Given the description of an element on the screen output the (x, y) to click on. 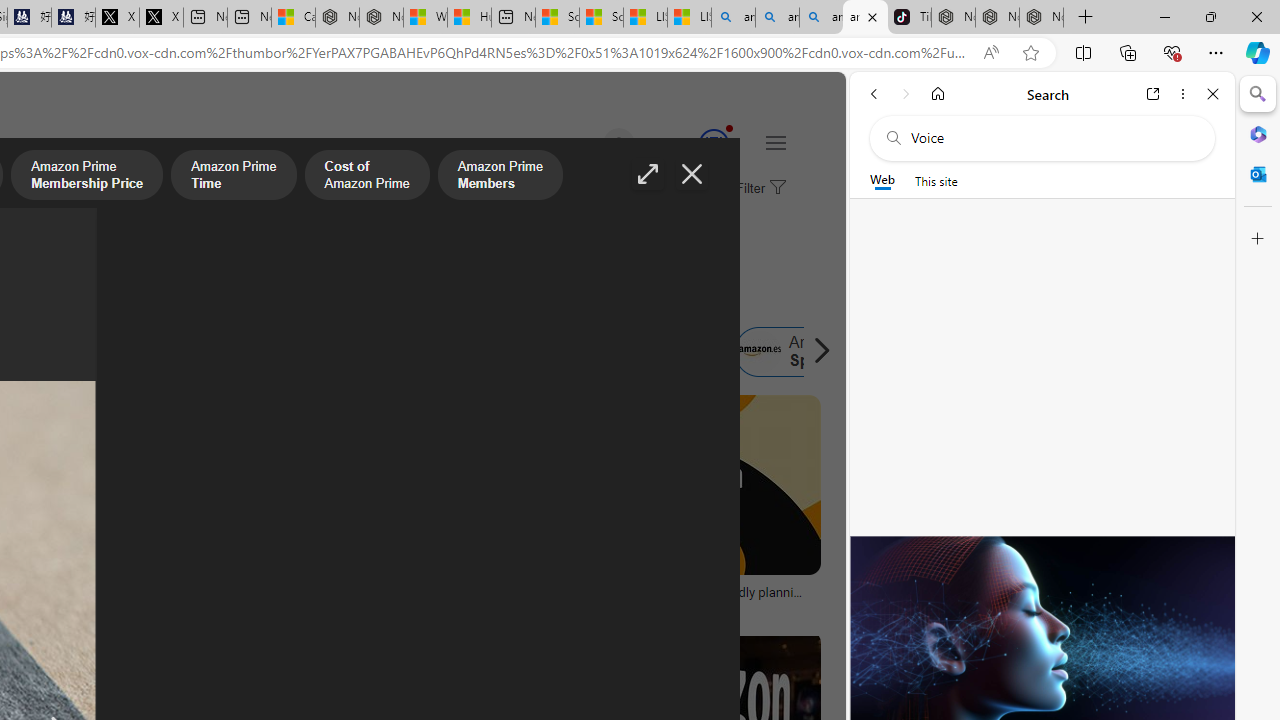
amazon - Search Images (865, 17)
Amazon.com.au (343, 351)
Amazon Prime Membership (44, 351)
Web scope (882, 180)
Amazon Forest (475, 351)
Search the web (1051, 137)
logopng.com.br (63, 605)
Nordace Siena Pro 15 Backpack (996, 17)
Close image (692, 173)
